Given the description of an element on the screen output the (x, y) to click on. 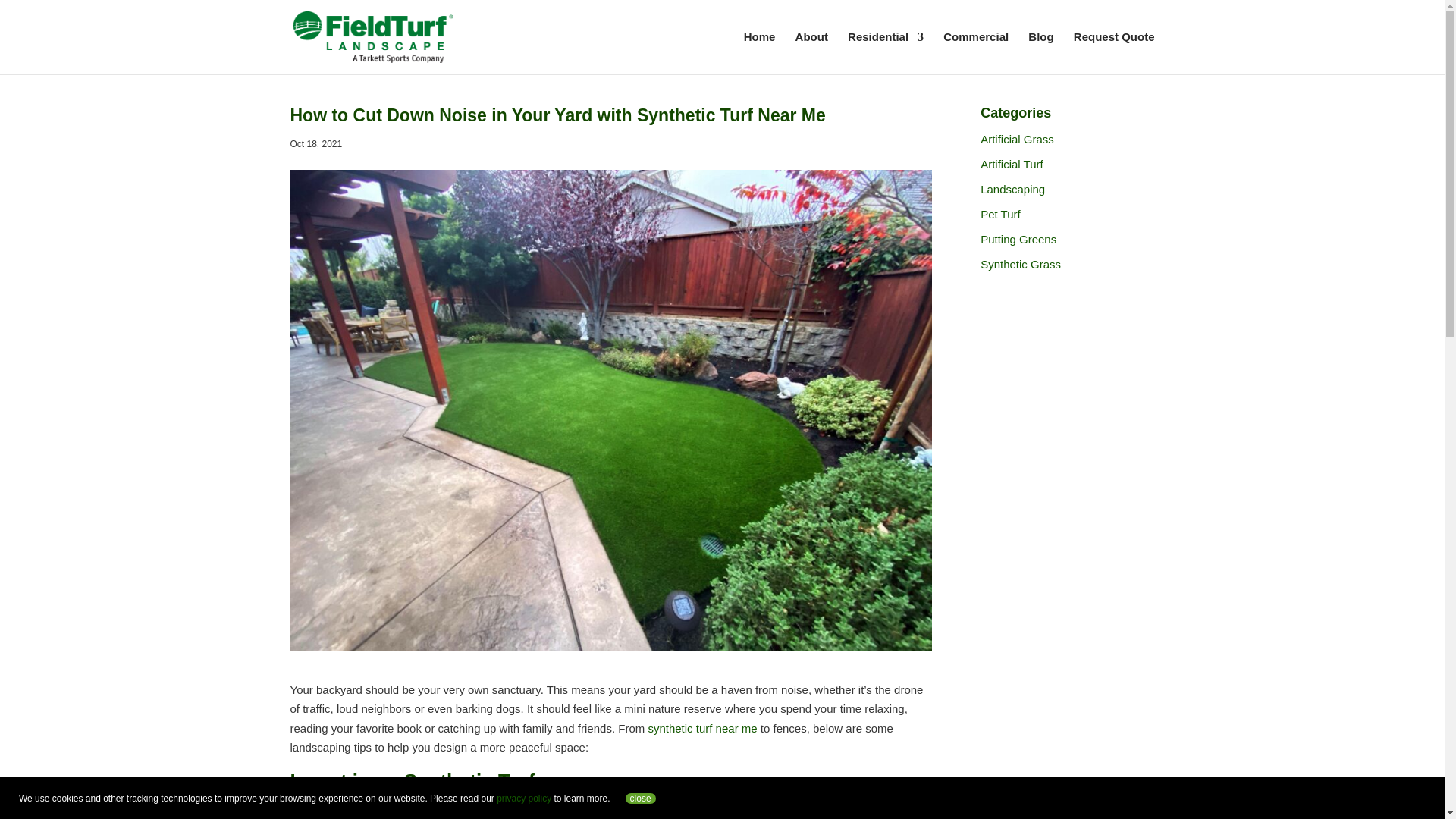
Pet Turf (999, 214)
Artificial Turf (1011, 164)
Residential (885, 52)
Commercial (976, 52)
close (641, 798)
Landscaping (1012, 188)
Request Quote (1114, 52)
privacy policy (523, 798)
Putting Greens (1018, 238)
Artificial Grass (1016, 138)
Synthetic Grass (1020, 264)
synthetic grass near me (426, 811)
synthetic turf near me (702, 727)
